Given the description of an element on the screen output the (x, y) to click on. 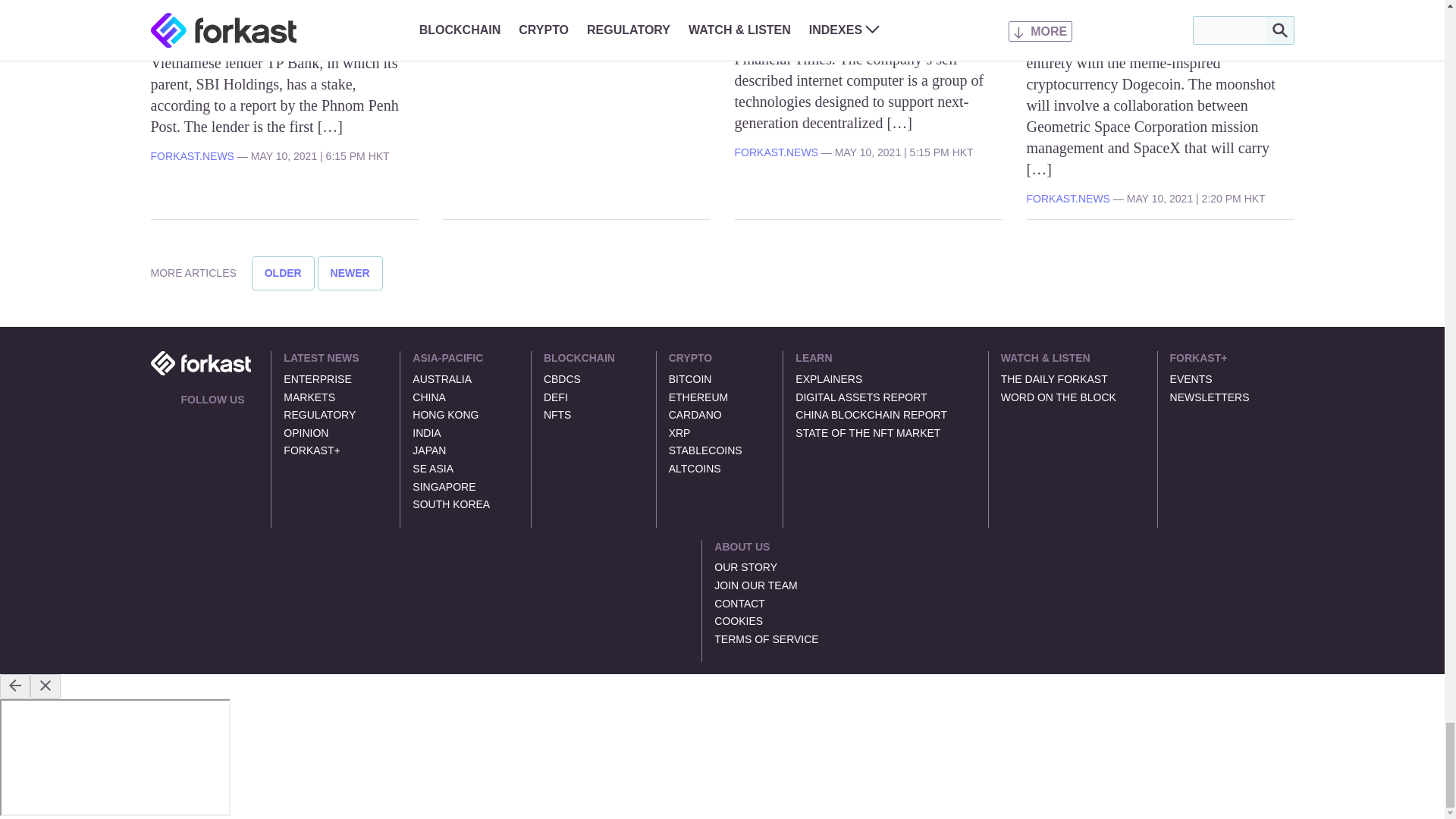
Forkast's profile on LinkedIn (204, 419)
Forkast's profile on Instagram (240, 419)
Forkast's profile on Facebook (222, 419)
Forkast's profile on Twitter (186, 419)
